Given the description of an element on the screen output the (x, y) to click on. 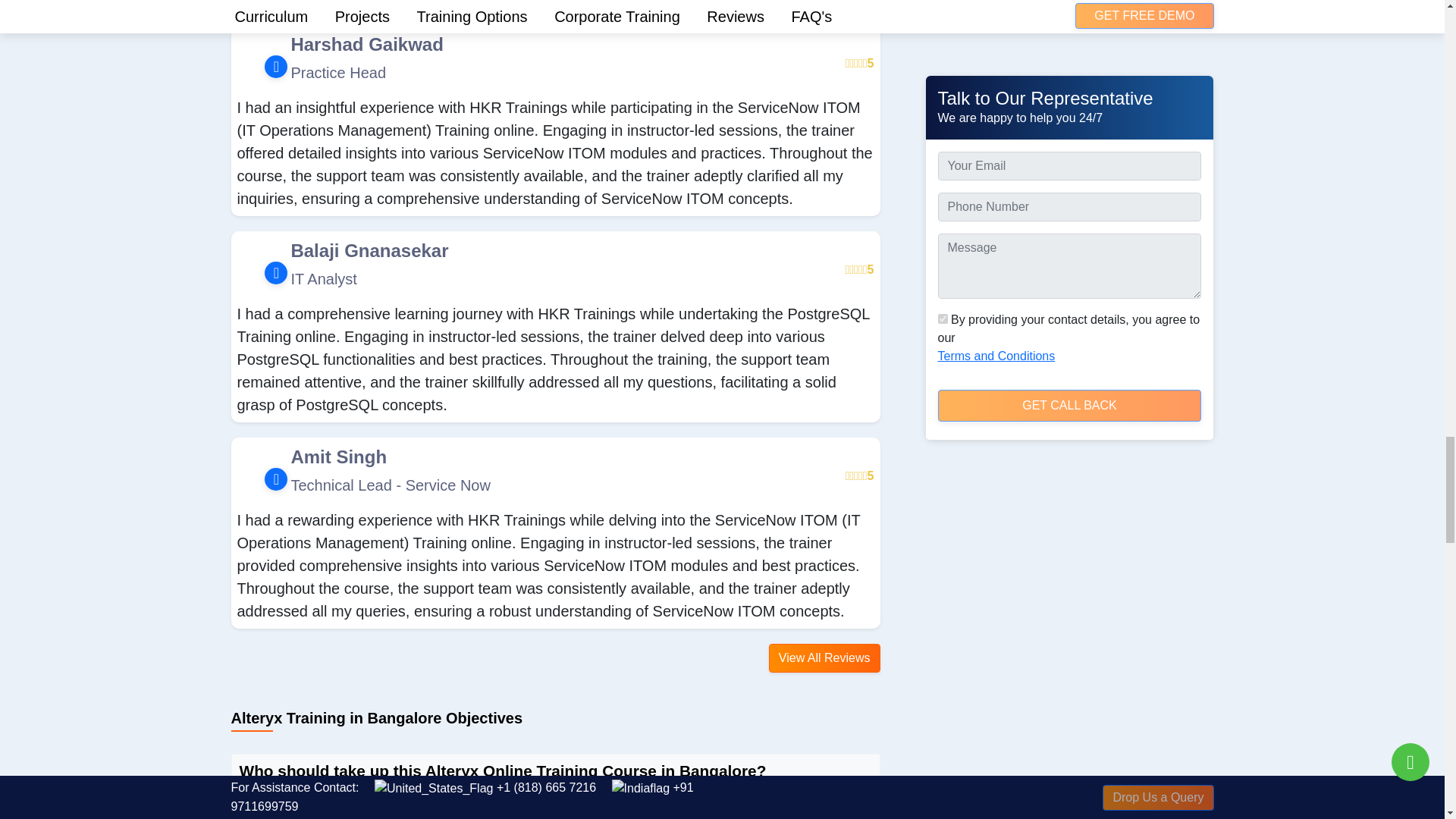
on (942, 232)
